Given the description of an element on the screen output the (x, y) to click on. 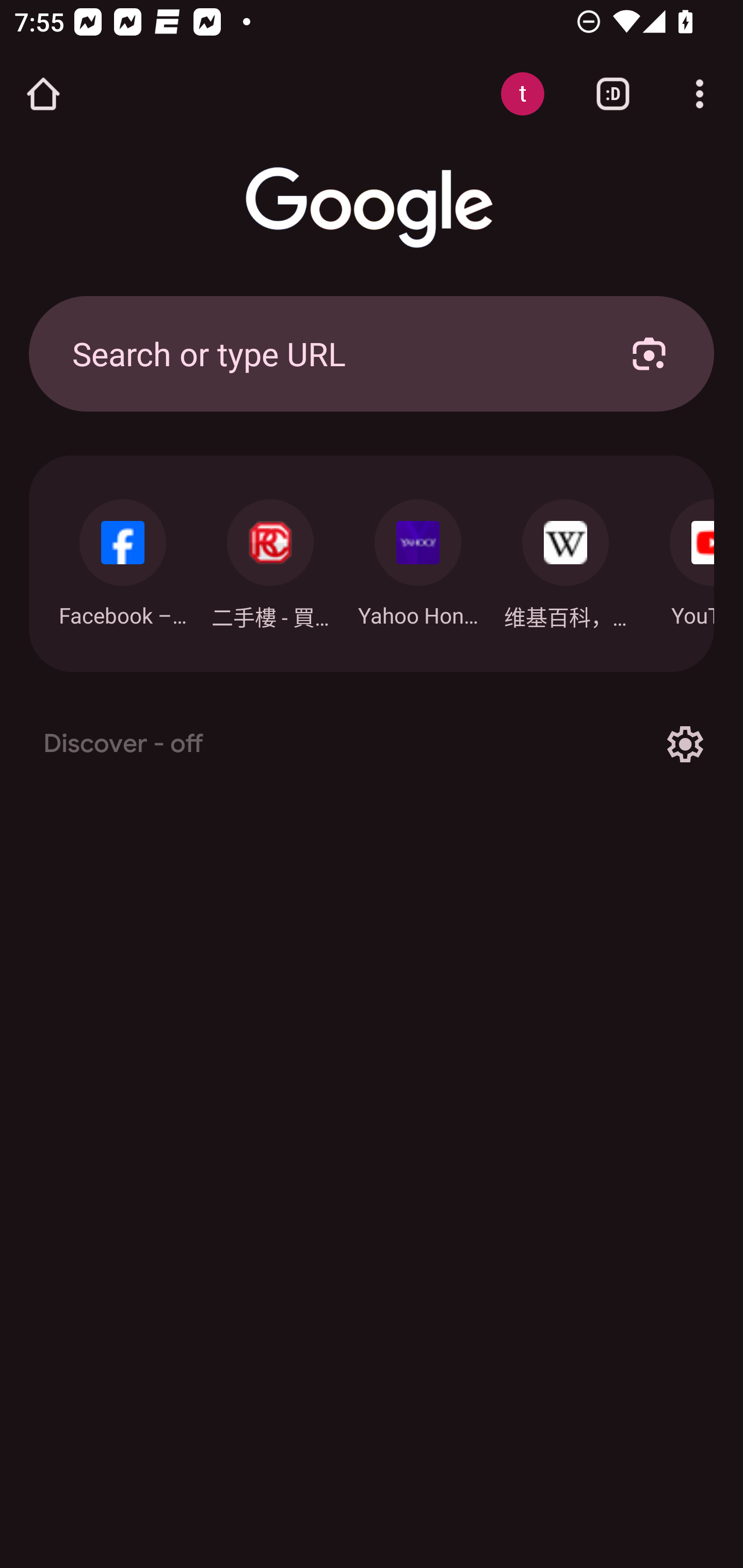
Open the home page (43, 93)
Switch or close tabs (612, 93)
Customize and control Google Chrome (699, 93)
Search or type URL (327, 353)
Search with your camera using Google Lens (648, 353)
Options for Discover (684, 743)
